Given the description of an element on the screen output the (x, y) to click on. 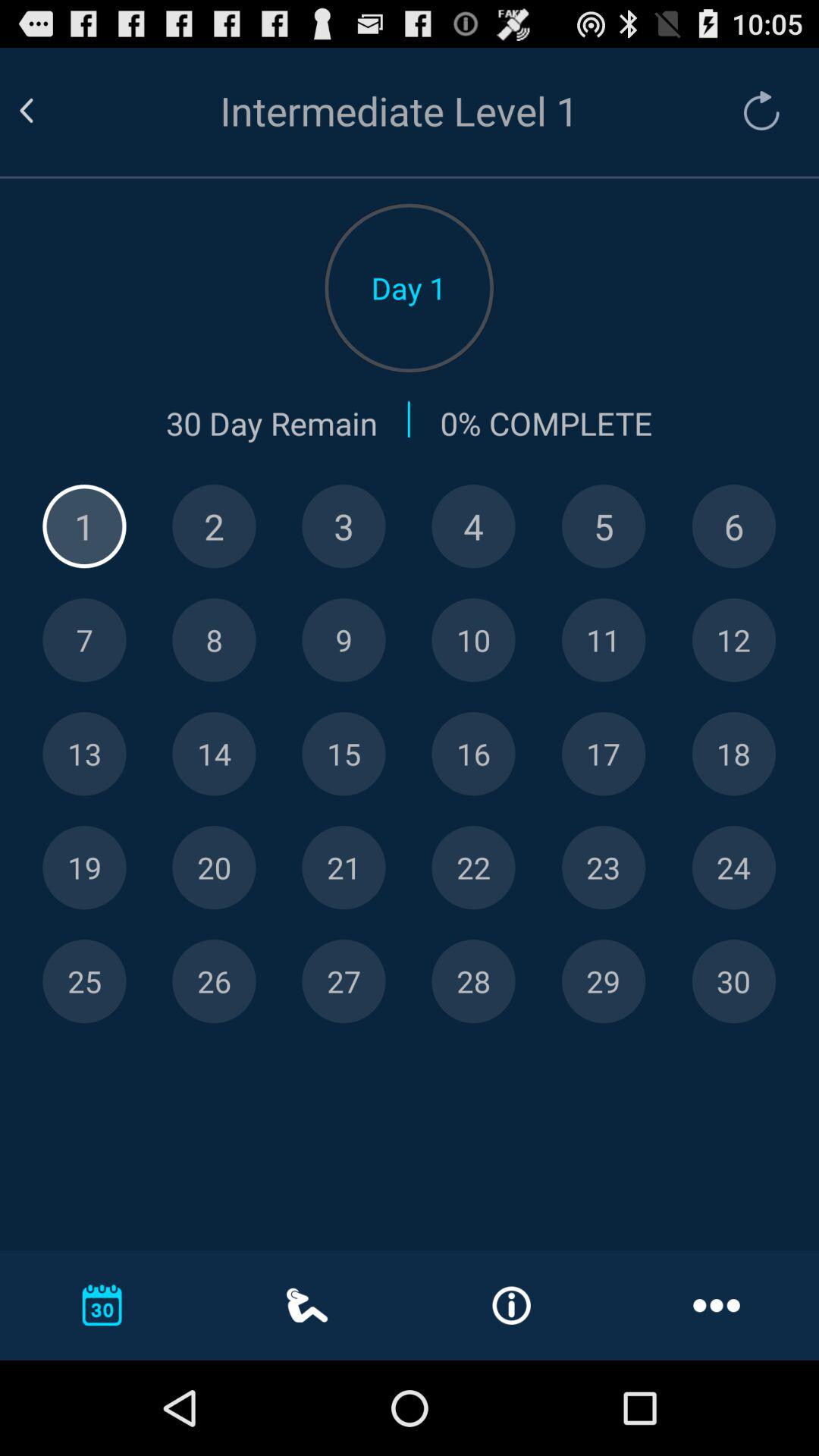
nineteen (84, 867)
